Given the description of an element on the screen output the (x, y) to click on. 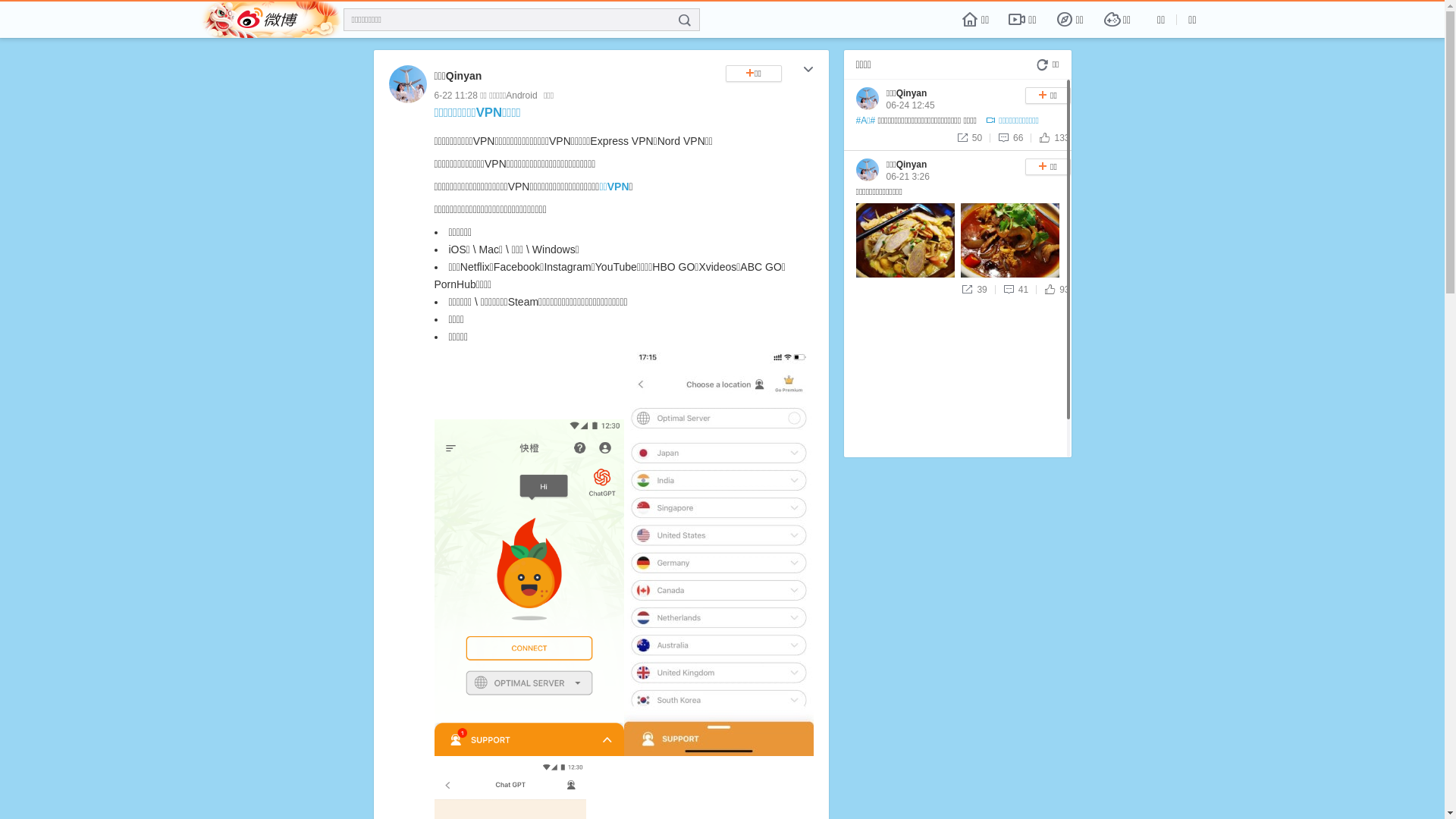
c Element type: text (808, 70)
06-24 12:45 Element type: text (909, 105)
06-21 3:26 Element type: text (906, 176)
6-22 11:28 Element type: text (454, 95)
f Element type: text (684, 20)
